Given the description of an element on the screen output the (x, y) to click on. 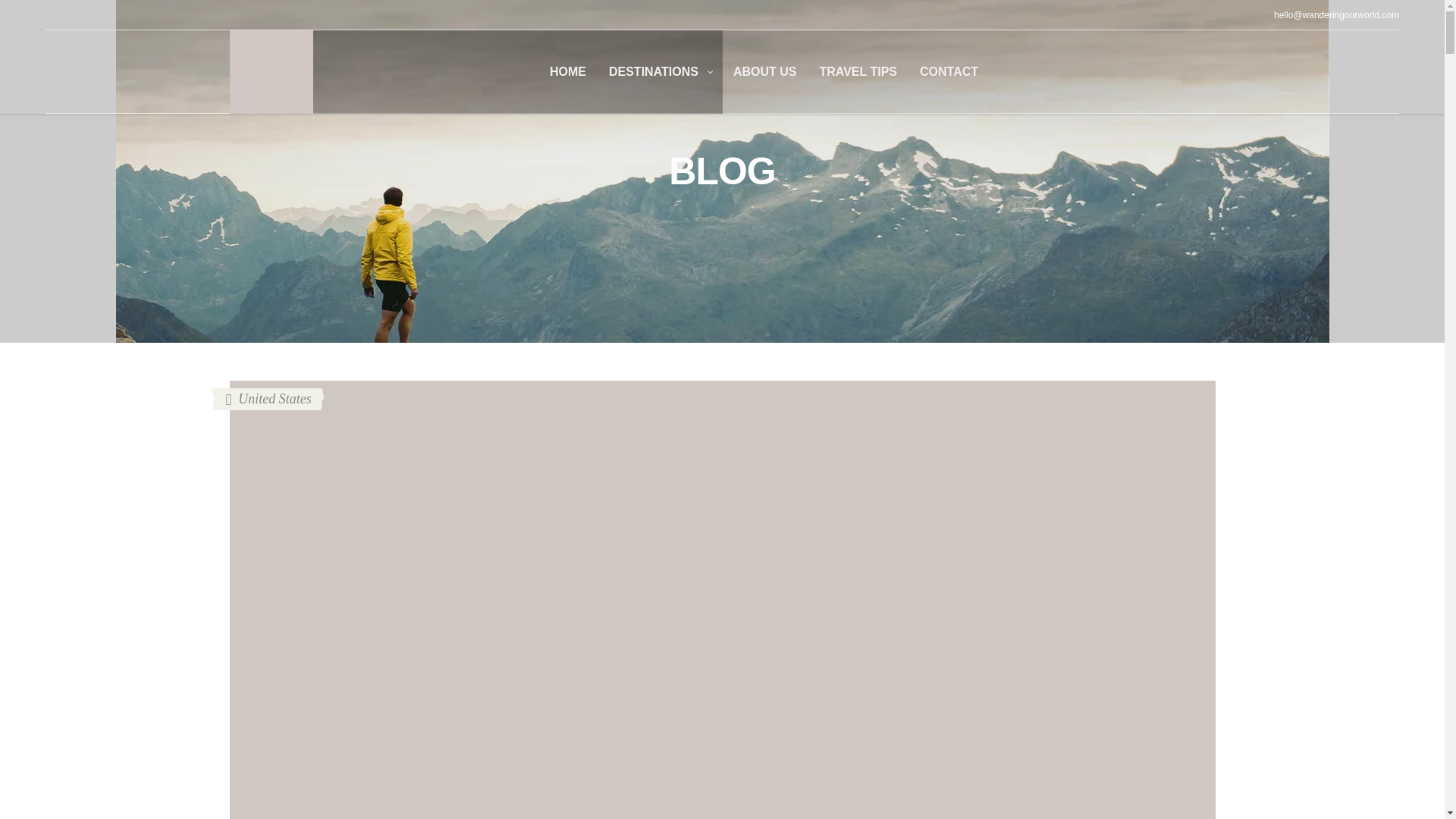
HOME (567, 71)
DESTINATIONS (659, 71)
